Given the description of an element on the screen output the (x, y) to click on. 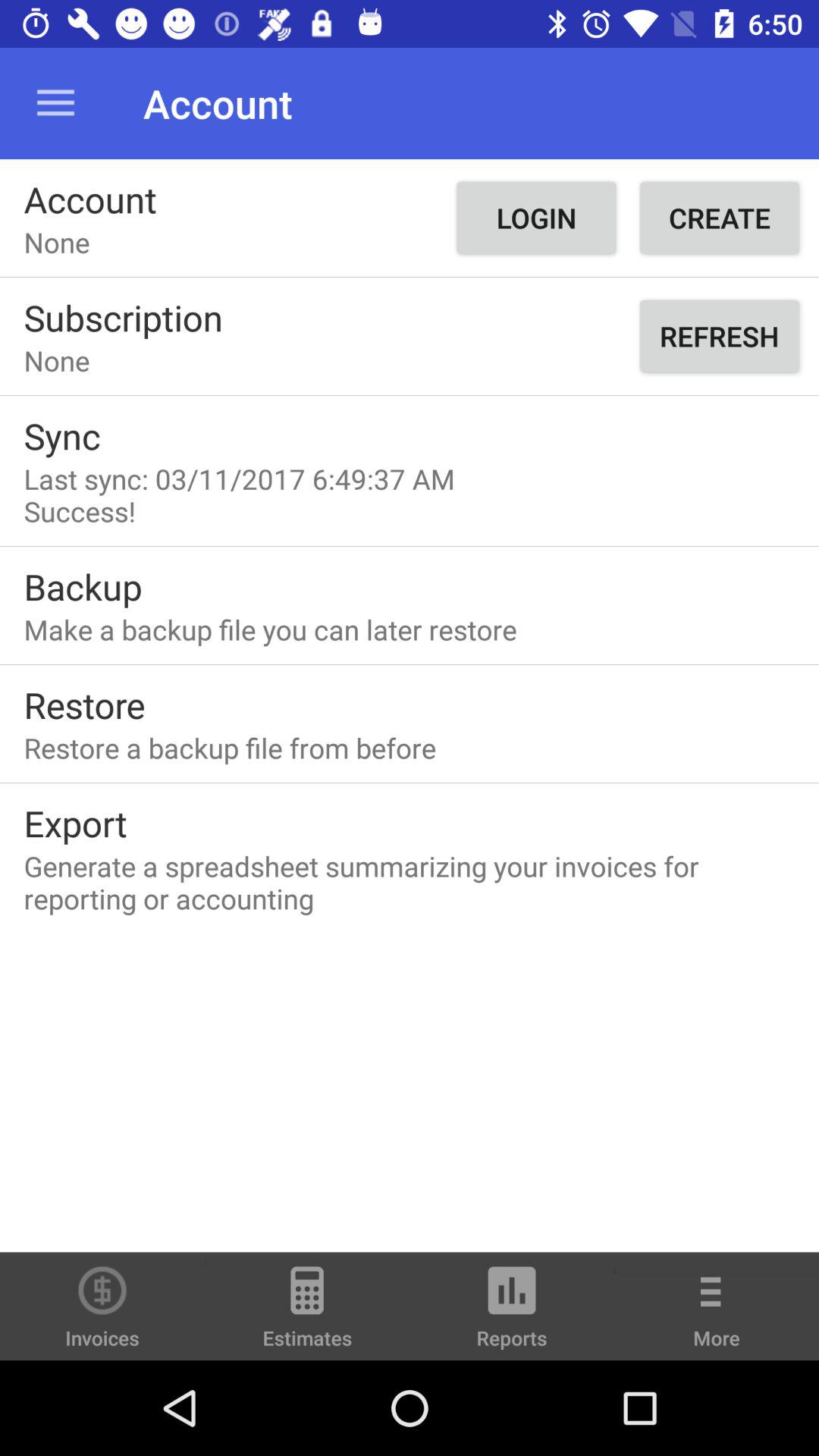
launch item to the left of create icon (535, 217)
